Given the description of an element on the screen output the (x, y) to click on. 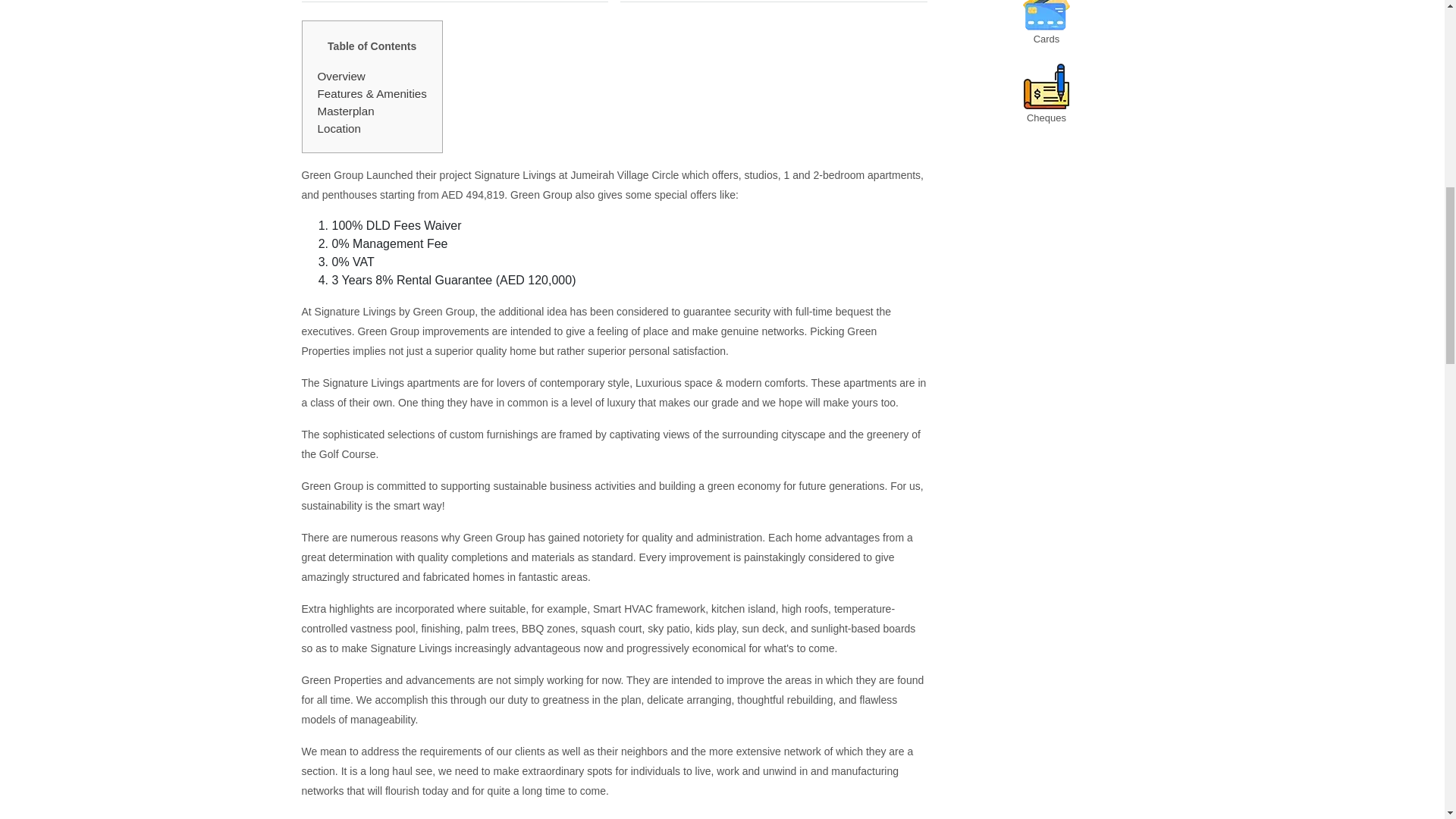
Masterplan (345, 110)
Location (338, 128)
Overview (341, 75)
